Given the description of an element on the screen output the (x, y) to click on. 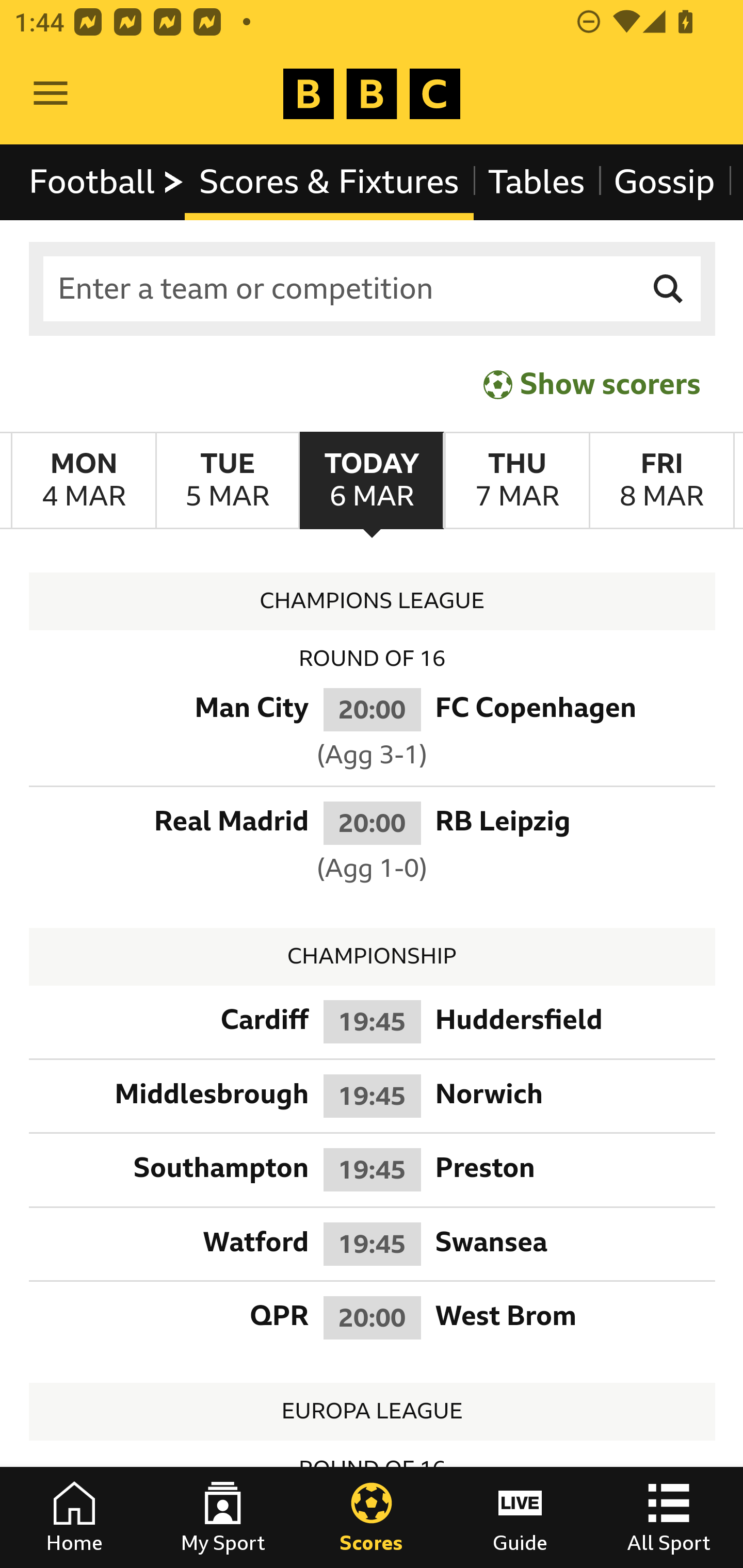
Open Menu (50, 93)
Football  (106, 181)
Scores & Fixtures (329, 181)
Tables (536, 181)
Gossip (664, 181)
Search (669, 289)
Show scorers (591, 383)
MondayMarch 4th Monday March 4th (83, 480)
TuesdayMarch 5th Tuesday March 5th (227, 480)
ThursdayMarch 7th Thursday March 7th (516, 480)
FridayMarch 8th Friday March 8th (661, 480)
Home (74, 1517)
My Sport (222, 1517)
Guide (519, 1517)
All Sport (668, 1517)
